Given the description of an element on the screen output the (x, y) to click on. 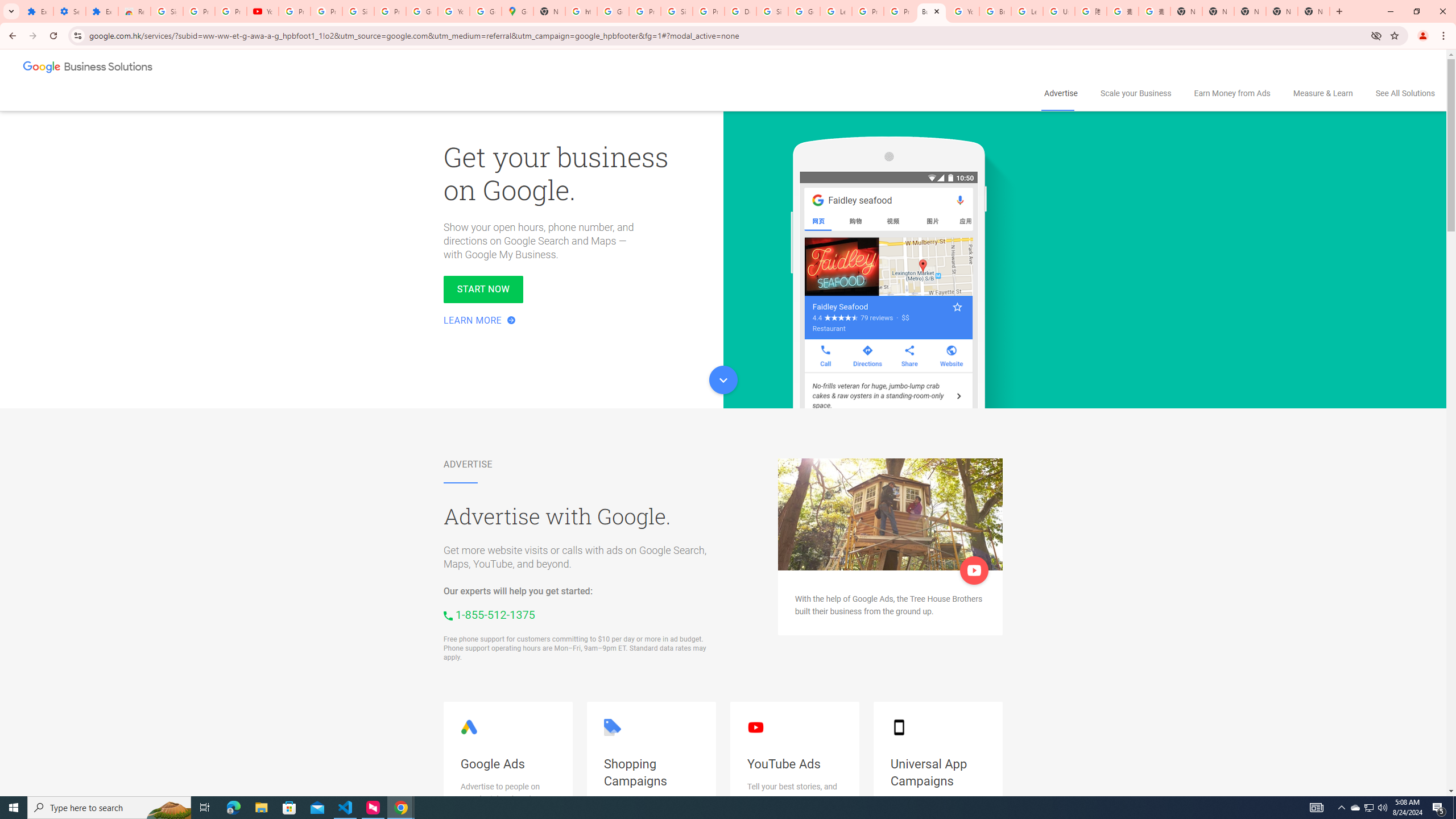
Extensions (37, 11)
Privacy Help Center - Policies Help (899, 11)
YouTube (262, 11)
See All Solutions (1405, 93)
Sign in - Google Accounts (772, 11)
